Given the description of an element on the screen output the (x, y) to click on. 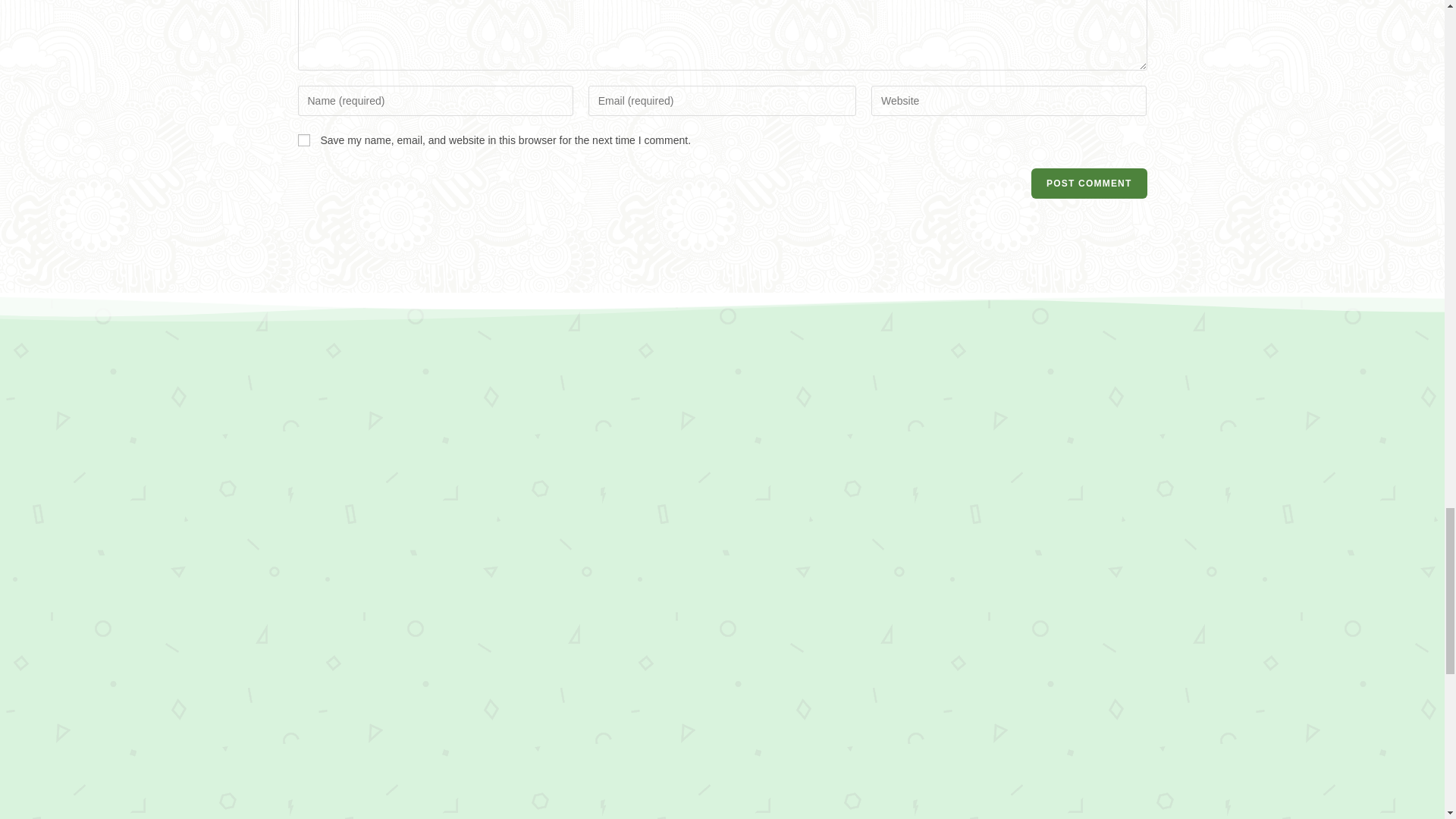
Post Comment (1088, 183)
yes (302, 140)
Post Comment (1088, 183)
